Given the description of an element on the screen output the (x, y) to click on. 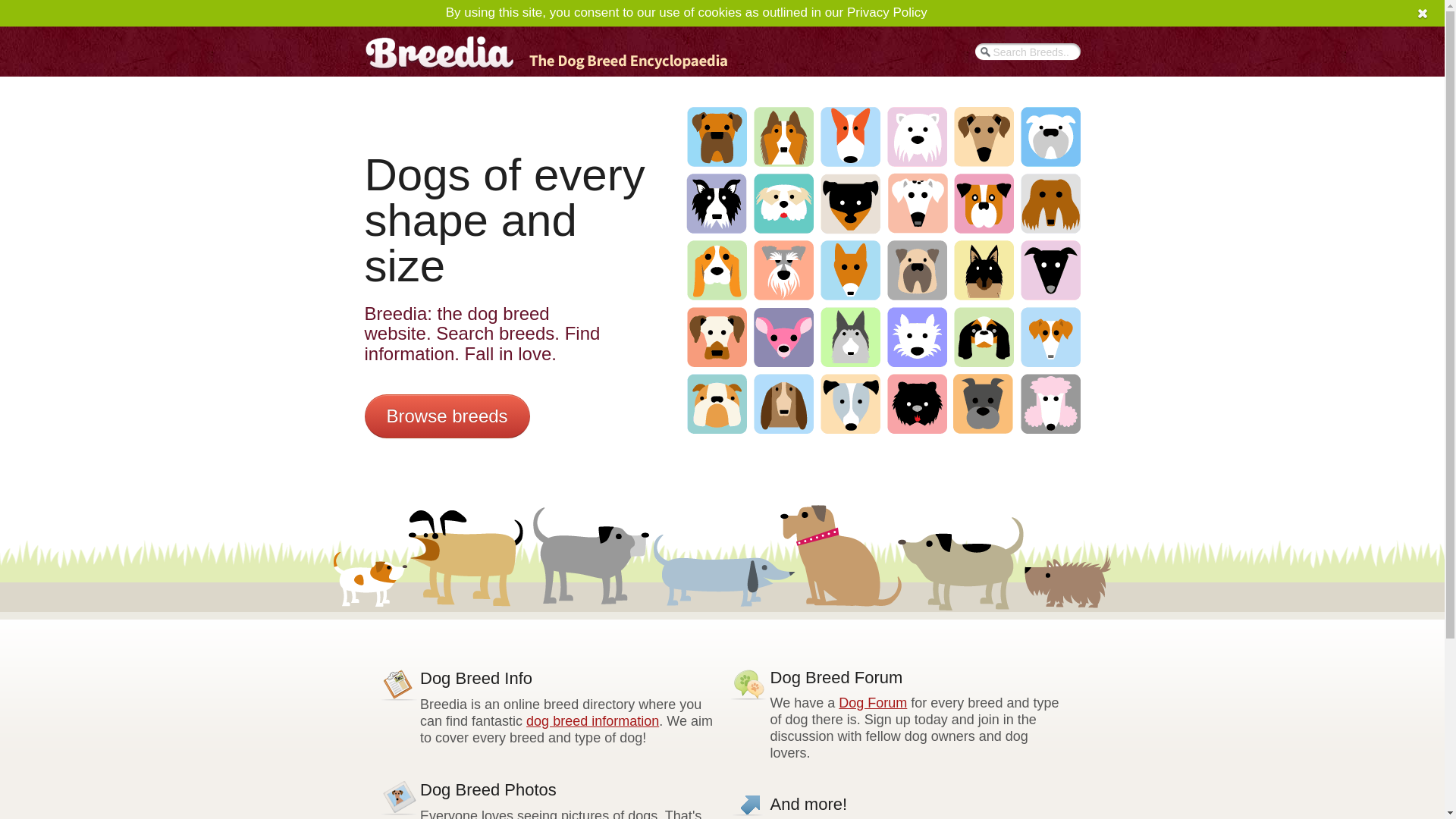
Dog Forum (872, 702)
Search (361, 13)
Browse breeds (446, 415)
dog breed information (592, 720)
